Given the description of an element on the screen output the (x, y) to click on. 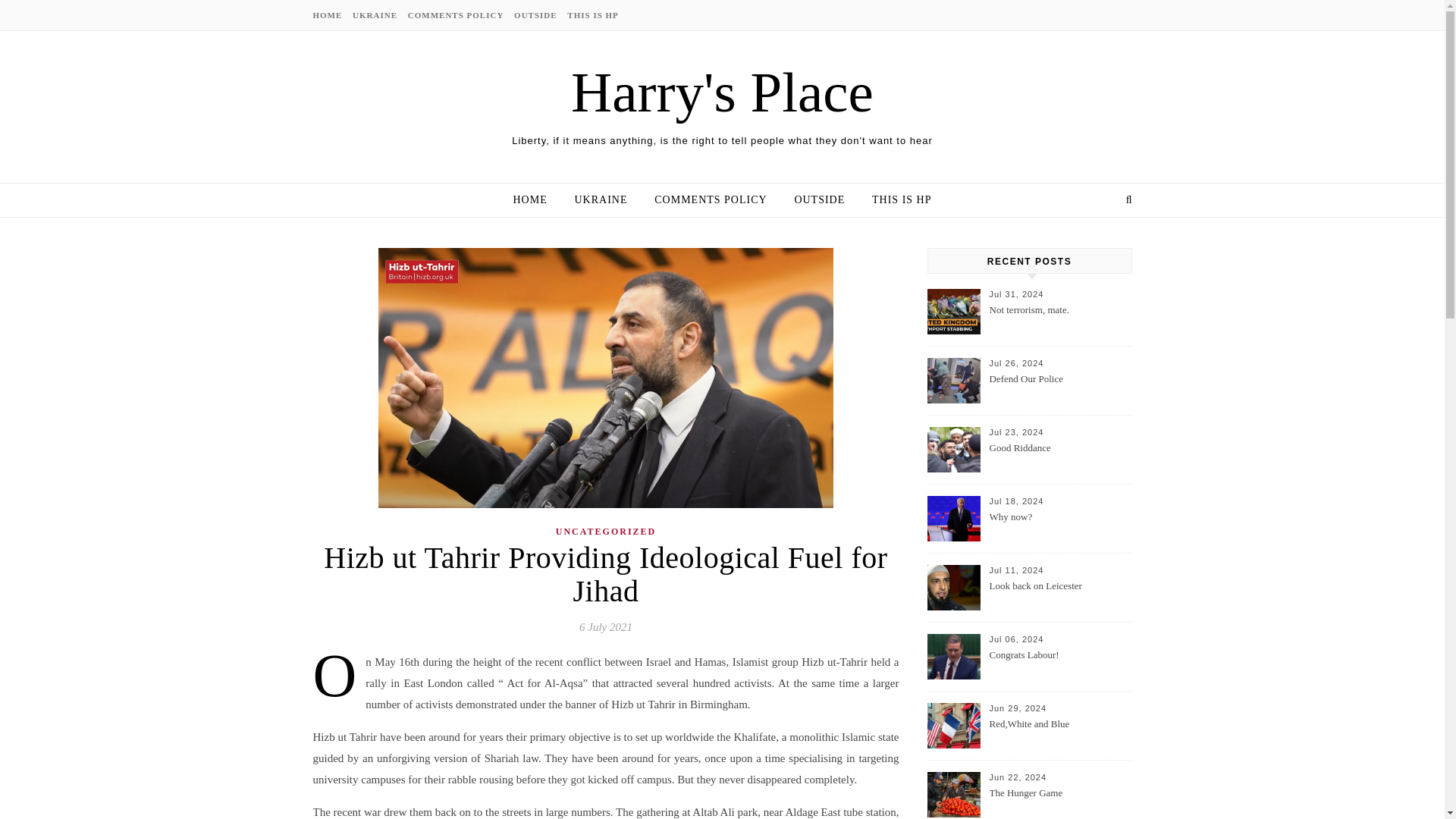
HOME (535, 200)
UKRAINE (375, 15)
Look back on Leicester (1058, 595)
UNCATEGORIZED (606, 531)
Not terrorism, mate. (1058, 319)
HOME (329, 15)
OUTSIDE (819, 200)
Good Riddance (1058, 457)
Congrats Labour! (1058, 664)
The Hunger Game (1058, 801)
Defend Our Police (1058, 388)
THIS IS HP (590, 15)
THIS IS HP (895, 200)
COMMENTS POLICY (710, 200)
Why now? (1058, 525)
